Given the description of an element on the screen output the (x, y) to click on. 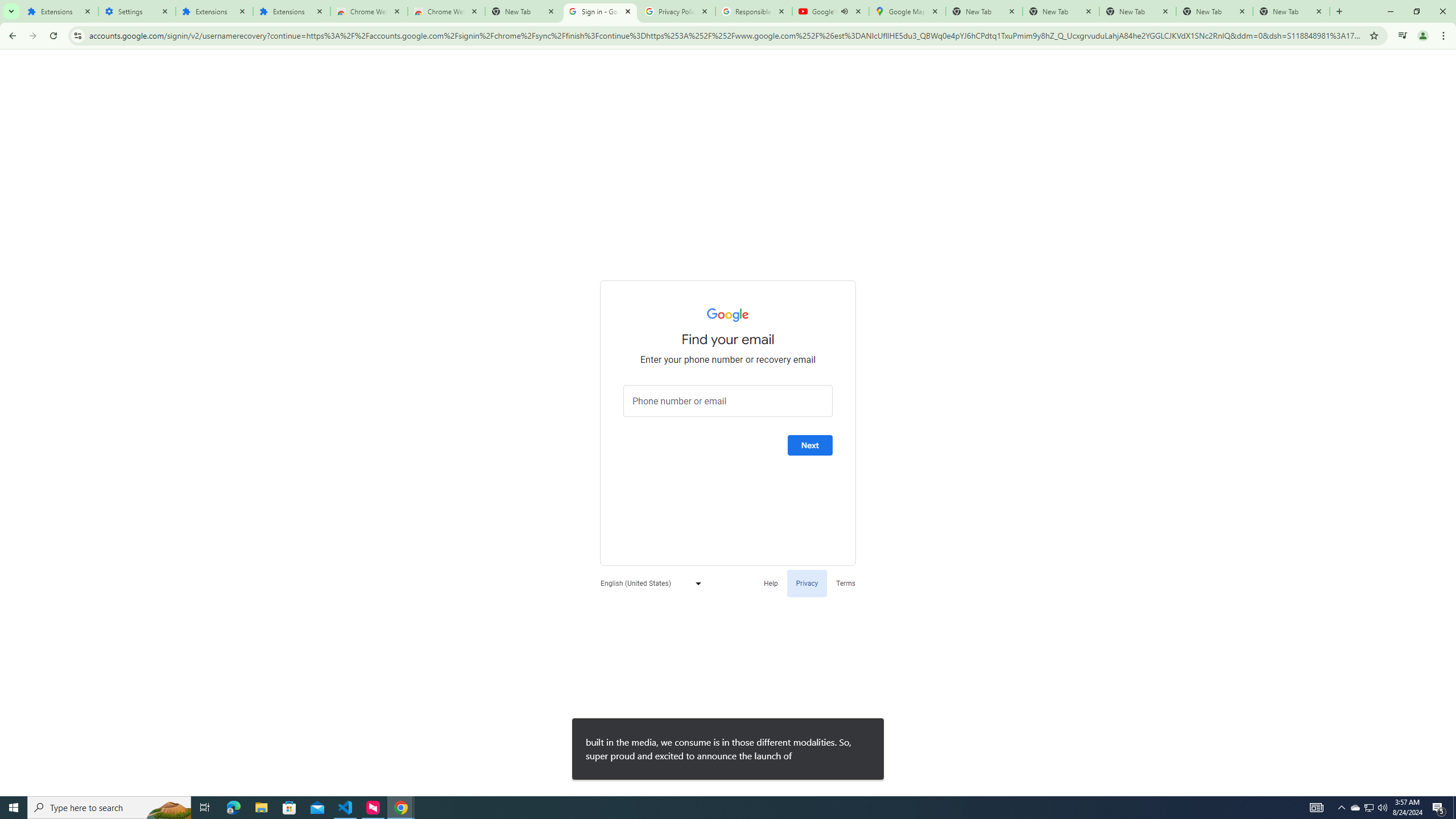
Extensions (290, 11)
Extensions (213, 11)
Settings (136, 11)
New Tab (523, 11)
Chrome Web Store (368, 11)
Phone number or email (727, 400)
